Given the description of an element on the screen output the (x, y) to click on. 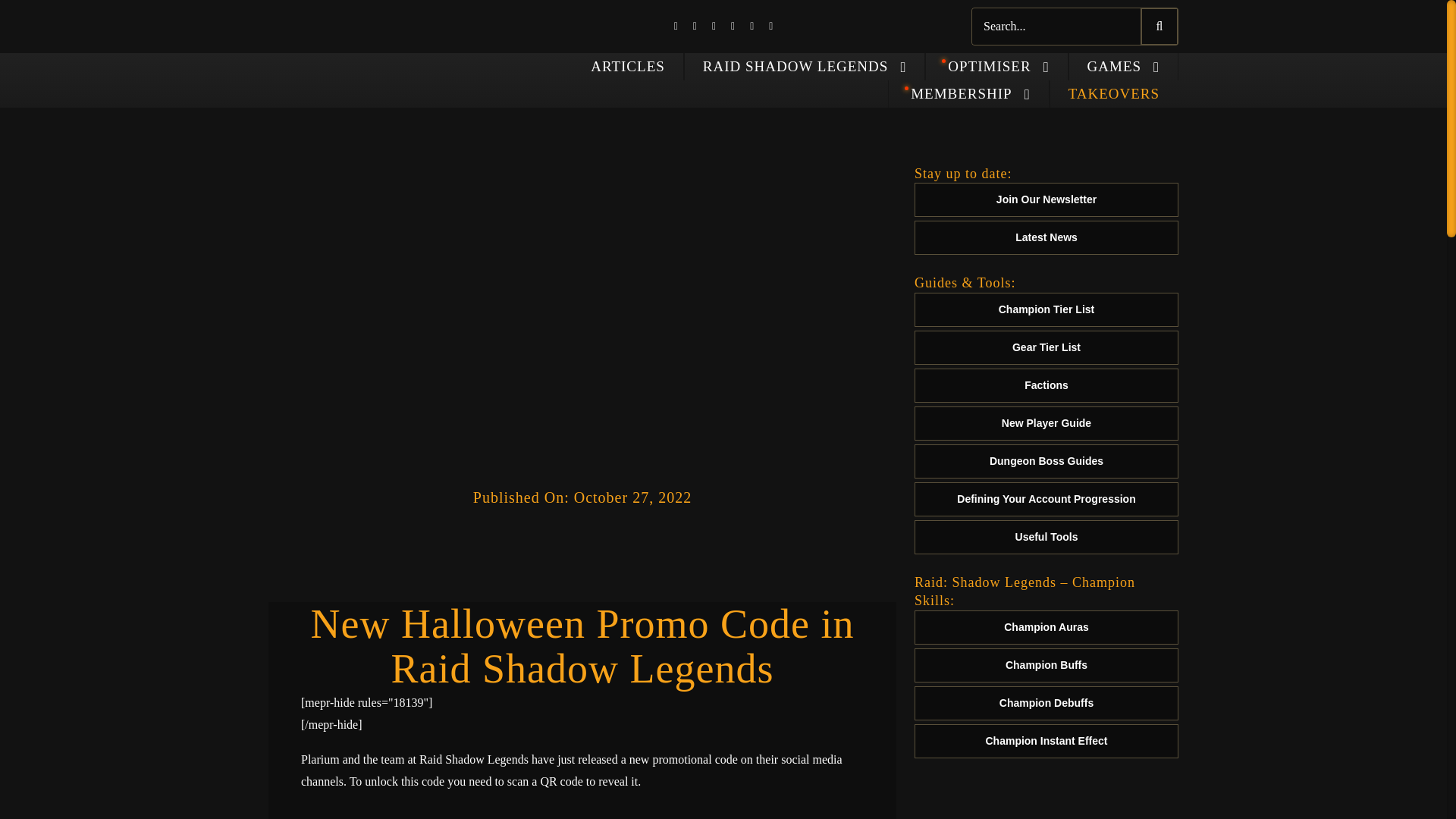
X (695, 26)
YouTube (751, 26)
Discord (770, 26)
RAID SHADOW LEGENDS (805, 66)
ARTICLES (628, 66)
Instagram (732, 26)
Twitch (713, 26)
Facebook (676, 26)
